Given the description of an element on the screen output the (x, y) to click on. 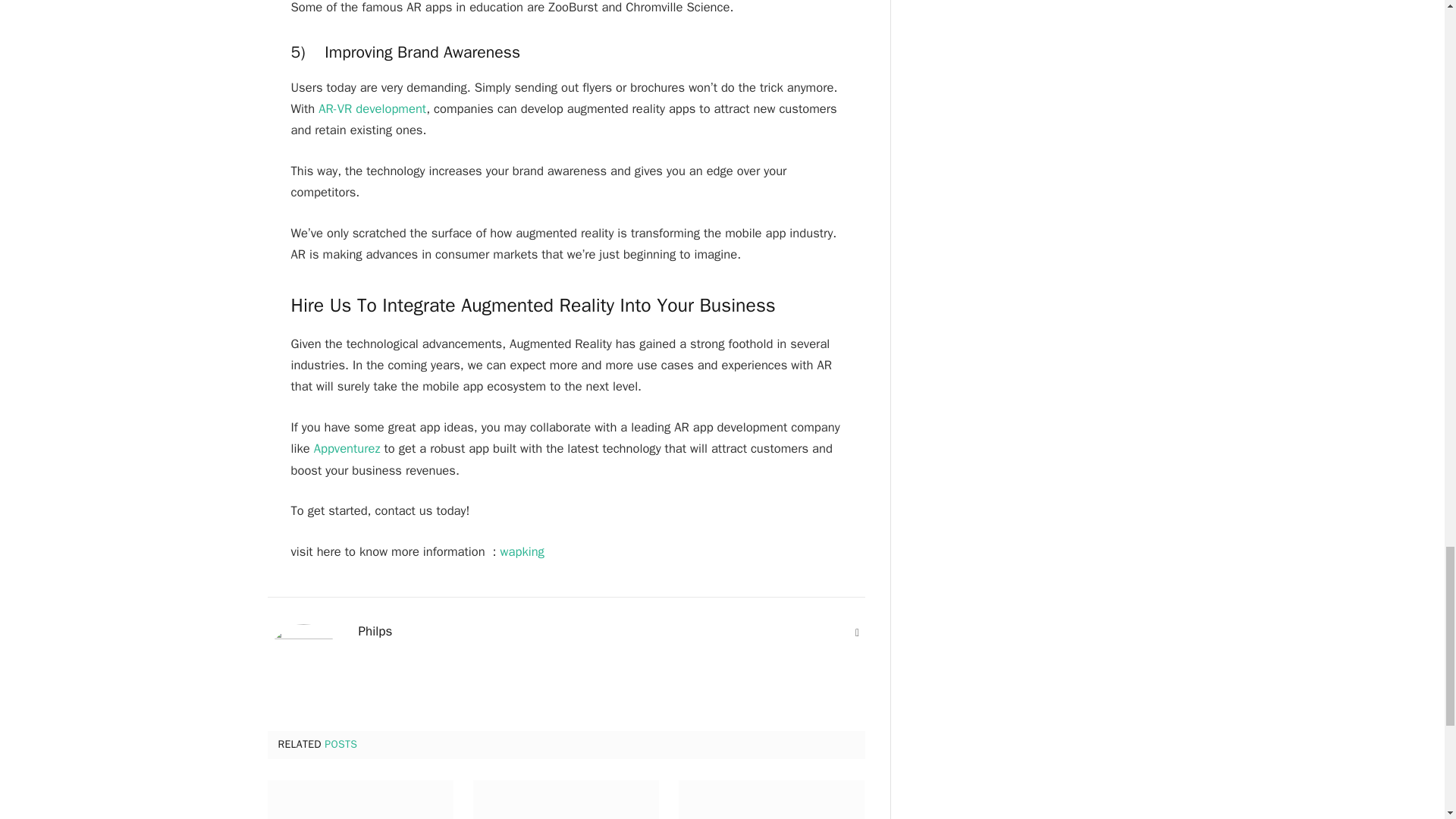
AR-VR development (372, 108)
Website (856, 632)
Appventurez (347, 448)
wapking (522, 551)
Philps (374, 631)
